Given the description of an element on the screen output the (x, y) to click on. 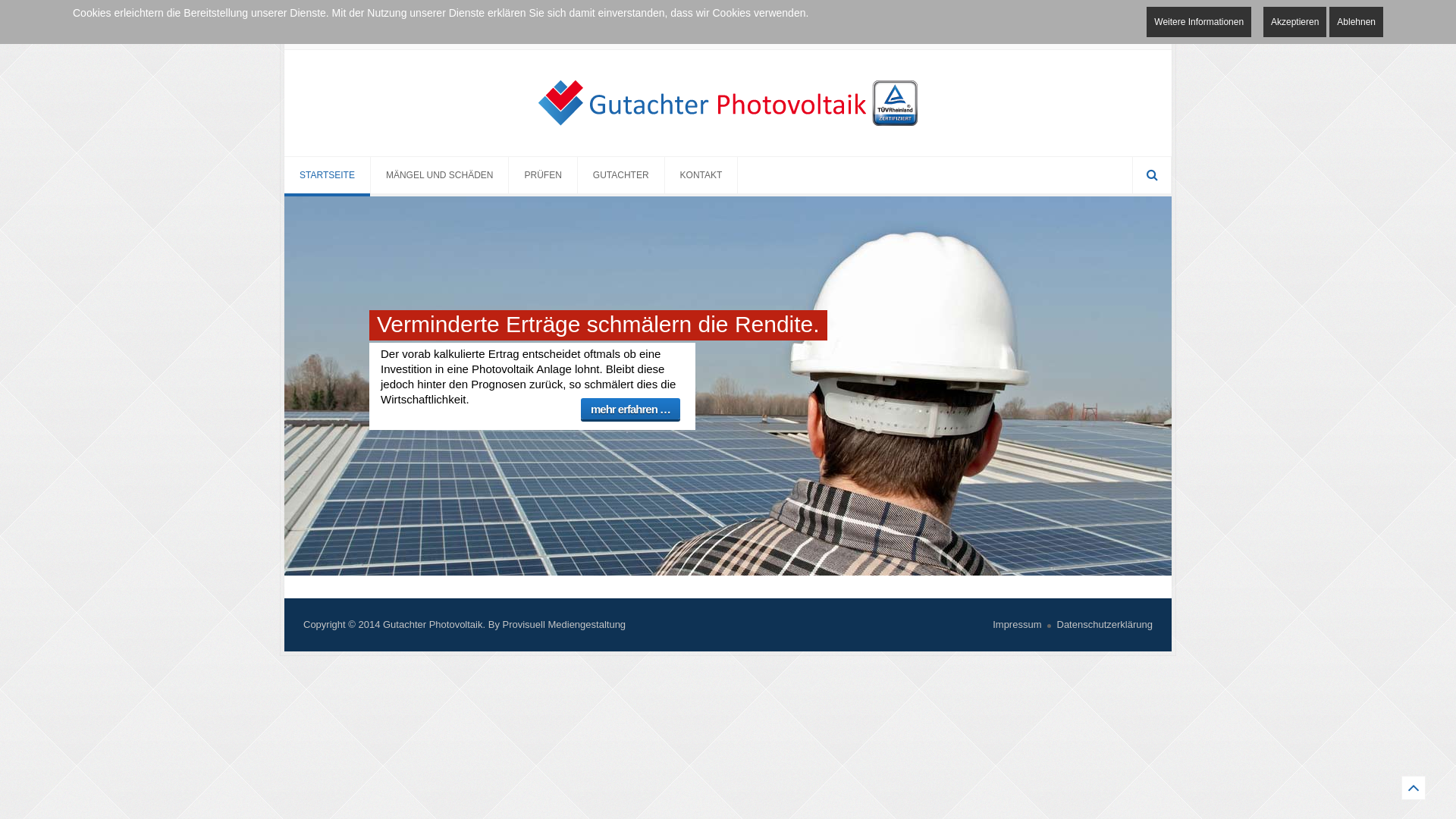
Goto Top Element type: hover (1413, 787)
KONTAKT Element type: text (701, 174)
Weitere Informationen Element type: text (1198, 21)
info@pv-gutachten.bayern Element type: text (379, 35)
Impressum Element type: text (1016, 624)
Akzeptieren Element type: text (1294, 21)
STARTSEITE Element type: text (327, 174)
Ablehnen Element type: text (1356, 21)
GUTACHTER Element type: text (621, 174)
